Given the description of an element on the screen output the (x, y) to click on. 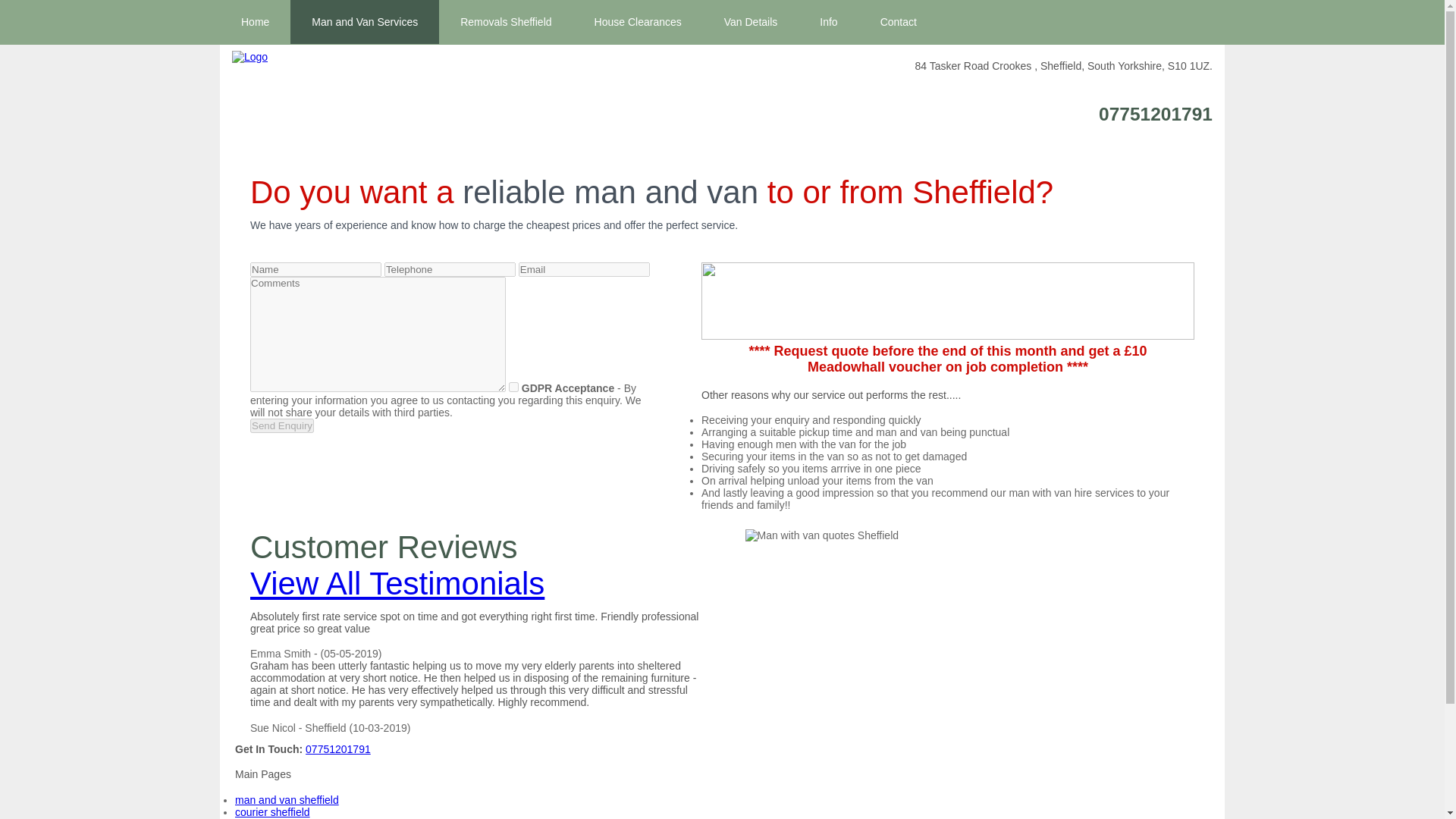
Send Enquiry (282, 425)
Man and Van Services (364, 22)
Contact (898, 22)
Home (254, 22)
man and van sheffield (286, 799)
Van Details (751, 22)
courier sheffield (272, 811)
07751201791 (338, 748)
Info (828, 22)
View All Testimonials (397, 583)
07751201791 (1155, 114)
Send Enquiry (282, 425)
courier sheffield (272, 811)
yes (513, 387)
Removals Sheffield (505, 22)
